Given the description of an element on the screen output the (x, y) to click on. 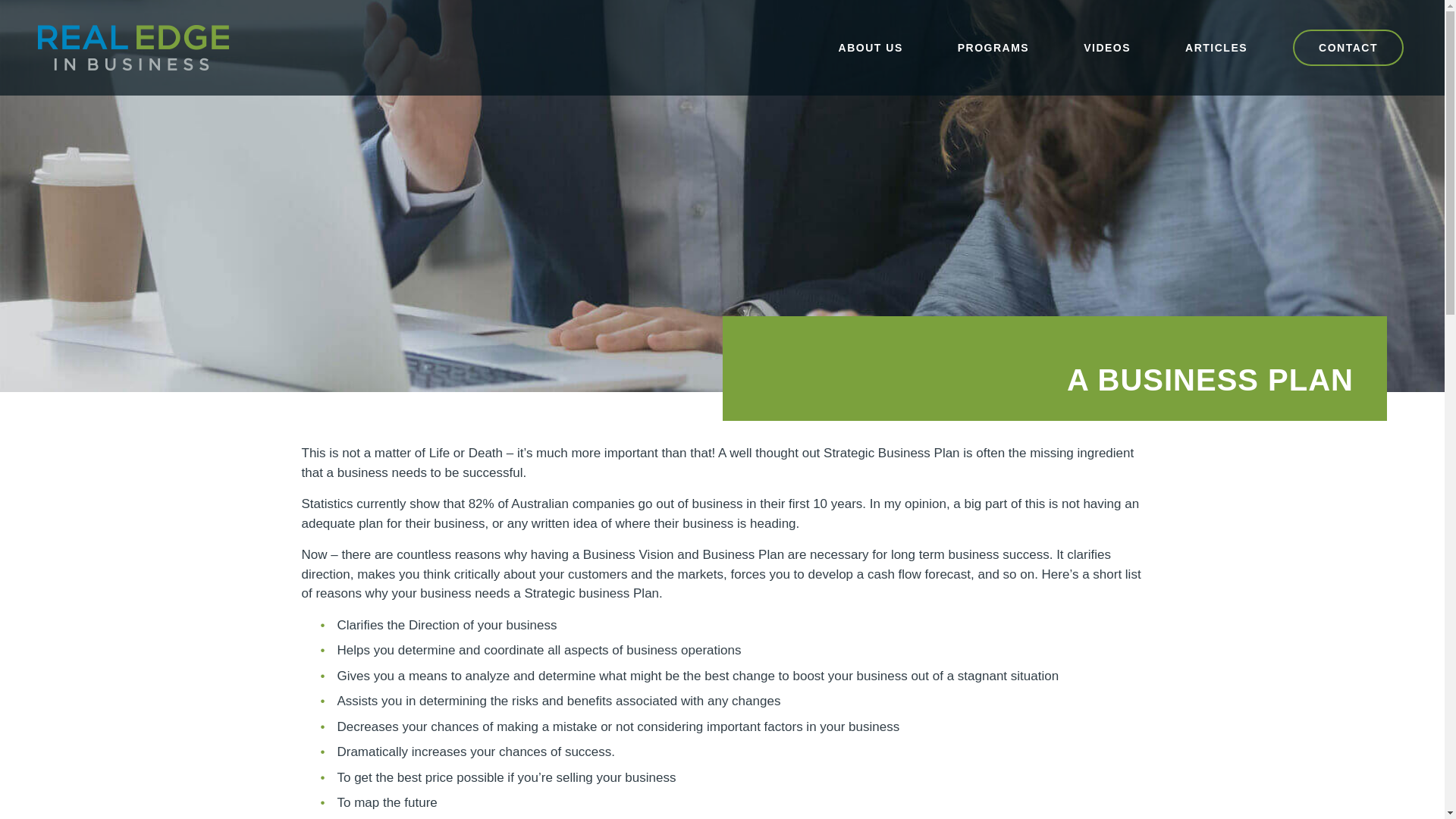
PROGRAMS (992, 47)
ABOUT US (870, 47)
CONTACT (1108, 47)
VIDEOS (1347, 47)
ARTICLES (1106, 47)
